Given the description of an element on the screen output the (x, y) to click on. 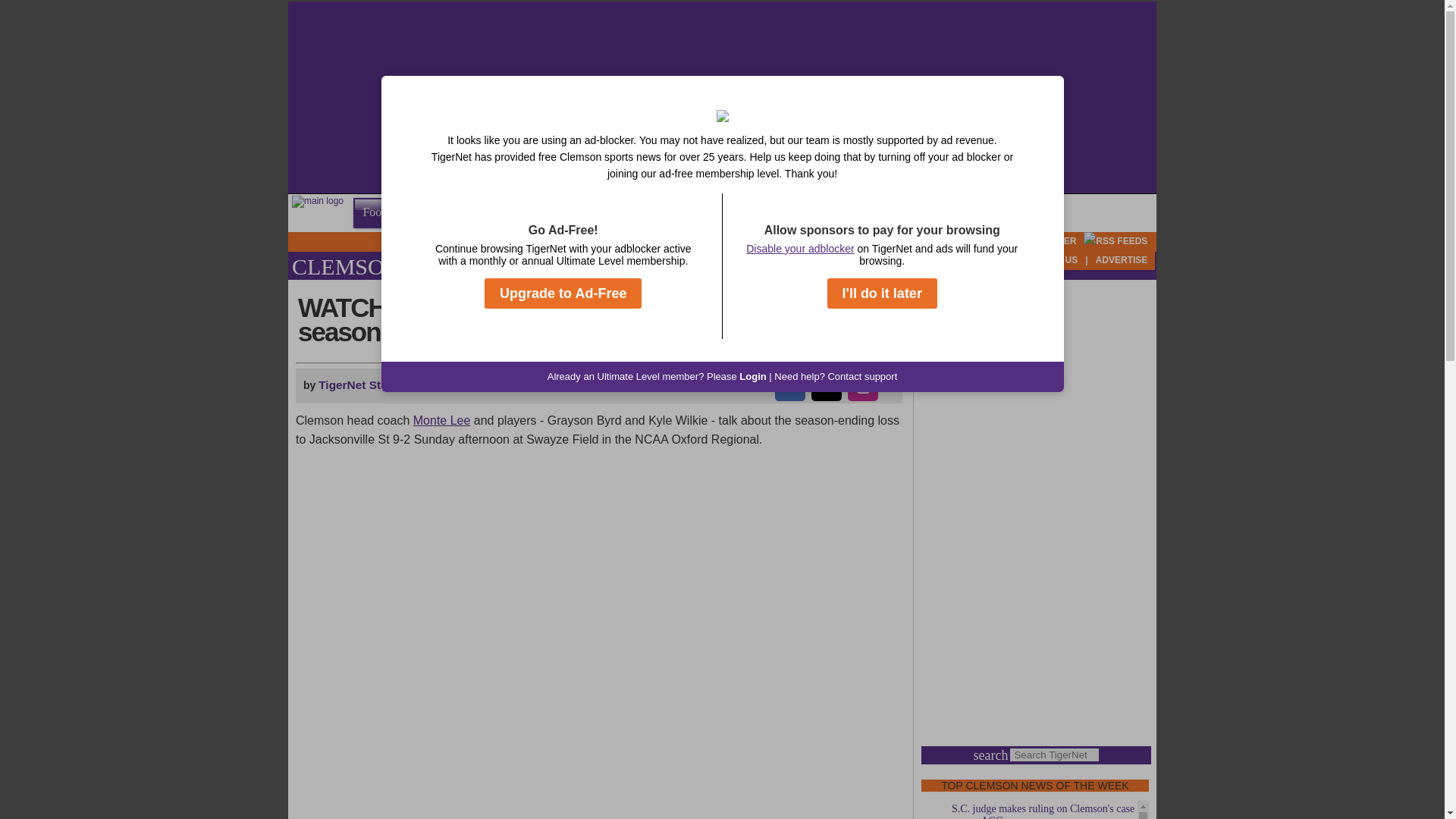
Contact support (861, 376)
Login (752, 376)
Football (382, 211)
Upgrade to Ad-Free (562, 293)
TigerBoards (330, 259)
Upgrade to Premium! (923, 259)
Contact us (1048, 259)
Advertise (1122, 259)
Recruiting (448, 211)
RSS feeds (1115, 240)
TigerNet Facebook (912, 240)
Donor's Den (410, 259)
TigerNet Twitter (1025, 240)
Search TigerNet Members (496, 259)
Disable your adblocker (799, 248)
